Given the description of an element on the screen output the (x, y) to click on. 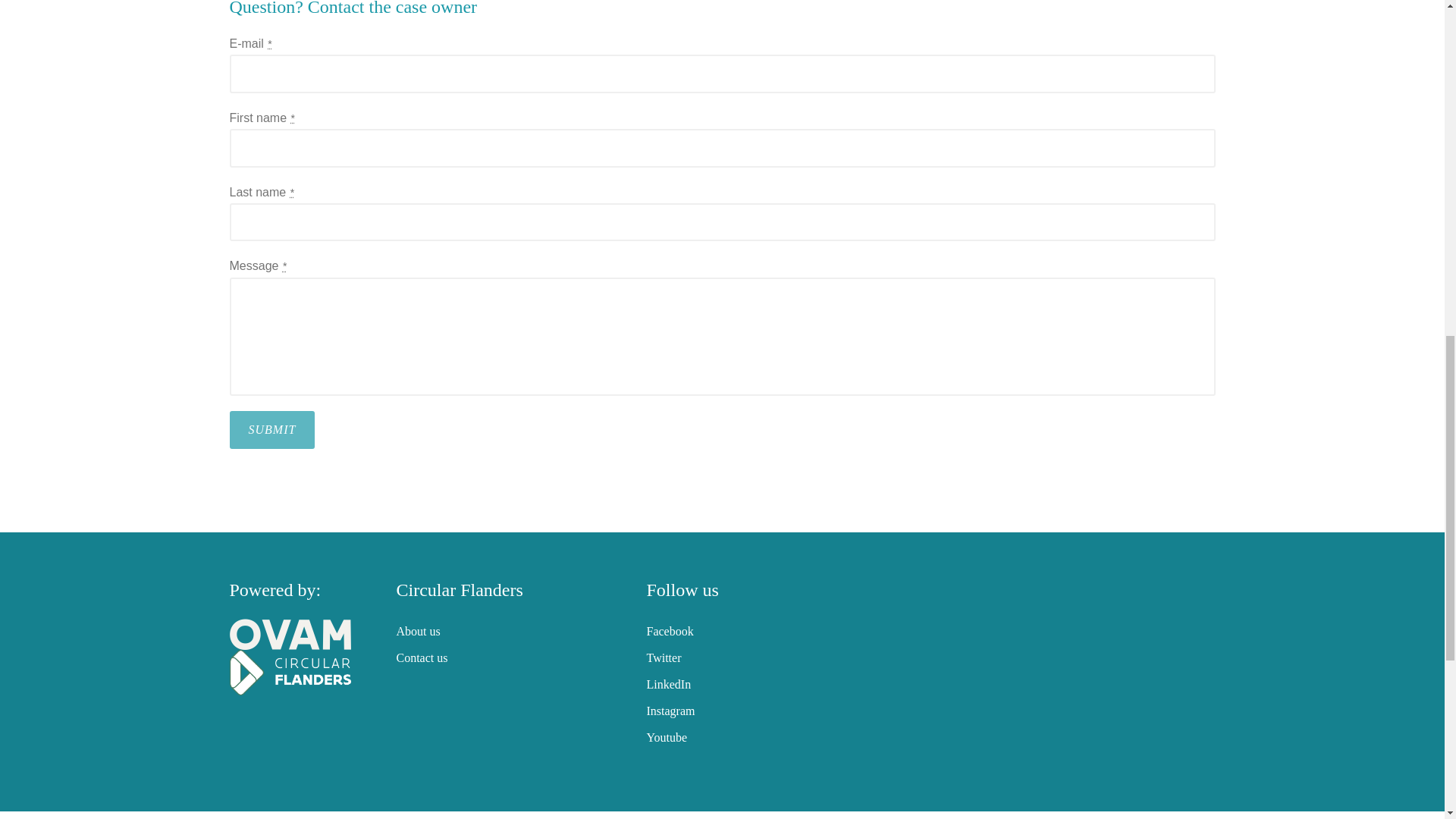
Youtube (666, 737)
Instagram (670, 710)
Contact us (421, 657)
Facebook (669, 631)
Submit (271, 429)
Twitter (663, 657)
About us (417, 631)
LinkedIn (668, 684)
Submit (271, 429)
